Given the description of an element on the screen output the (x, y) to click on. 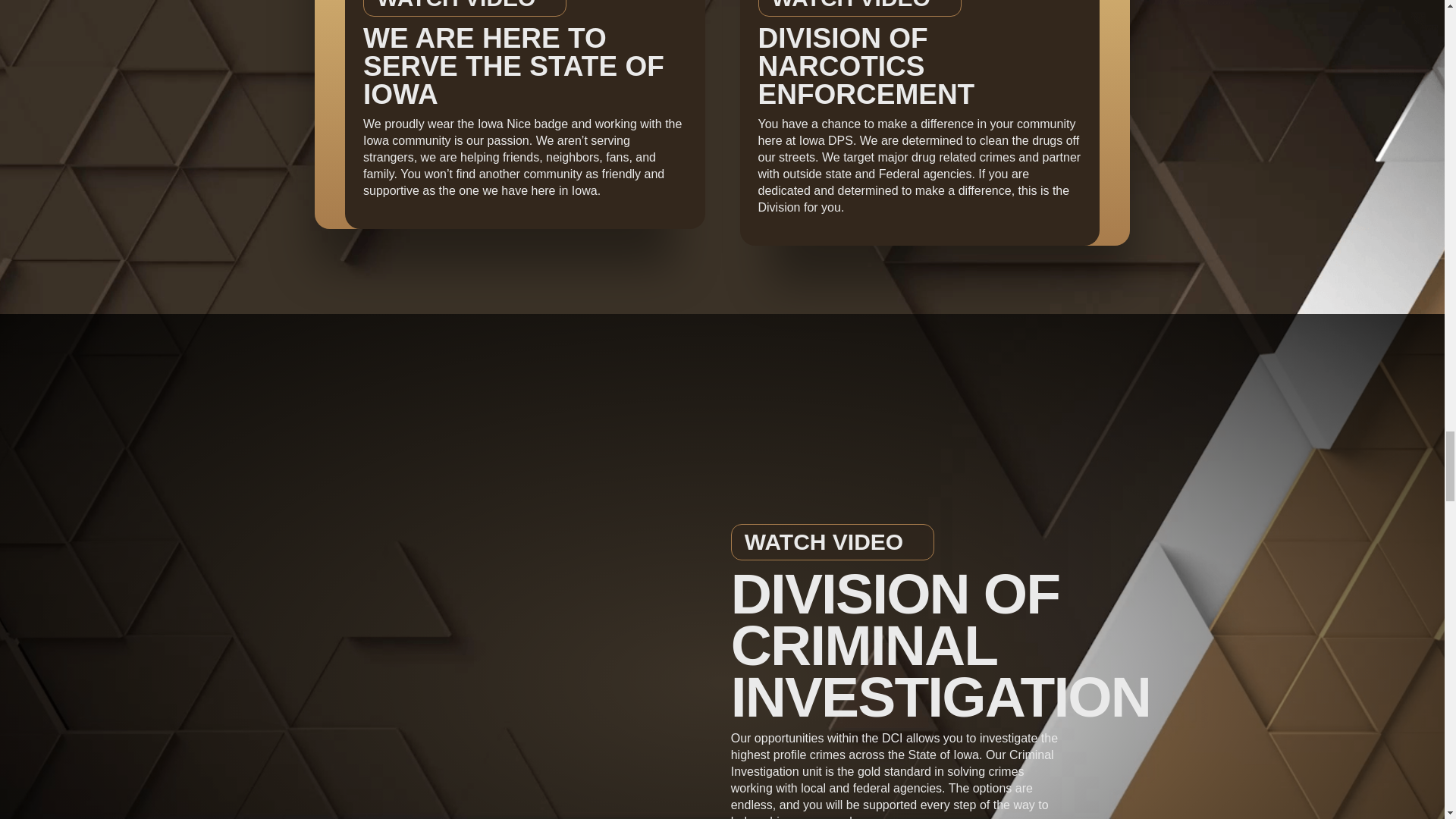
WATCH VIDEO (464, 8)
WATCH VIDEO (832, 542)
WATCH VIDEO (859, 8)
